Given the description of an element on the screen output the (x, y) to click on. 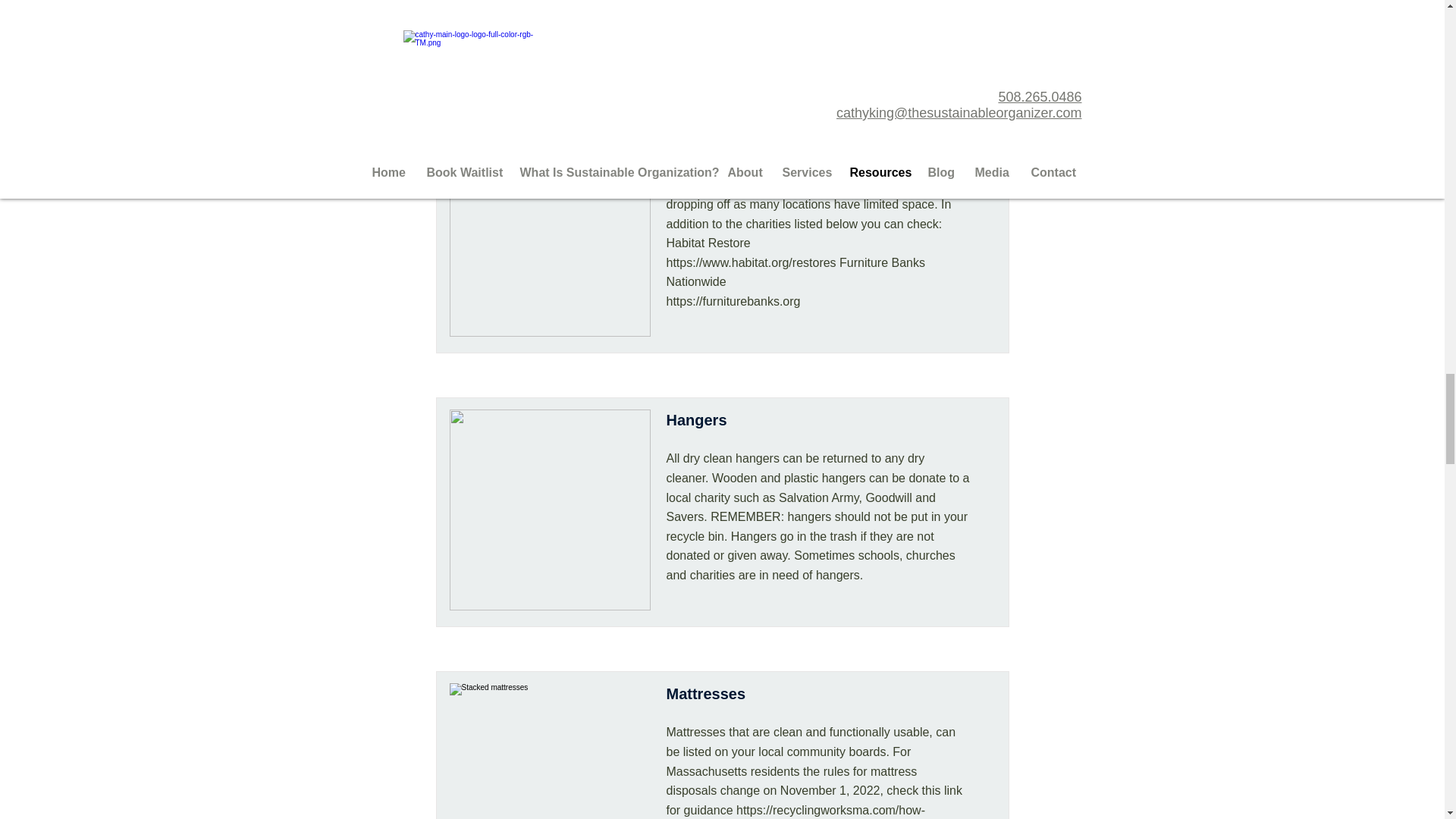
mattresses.png (548, 751)
Image by Eyekeeper Eyekeeper.jpg (548, 31)
furniture.png (548, 235)
hangers.png (548, 509)
